Given the description of an element on the screen output the (x, y) to click on. 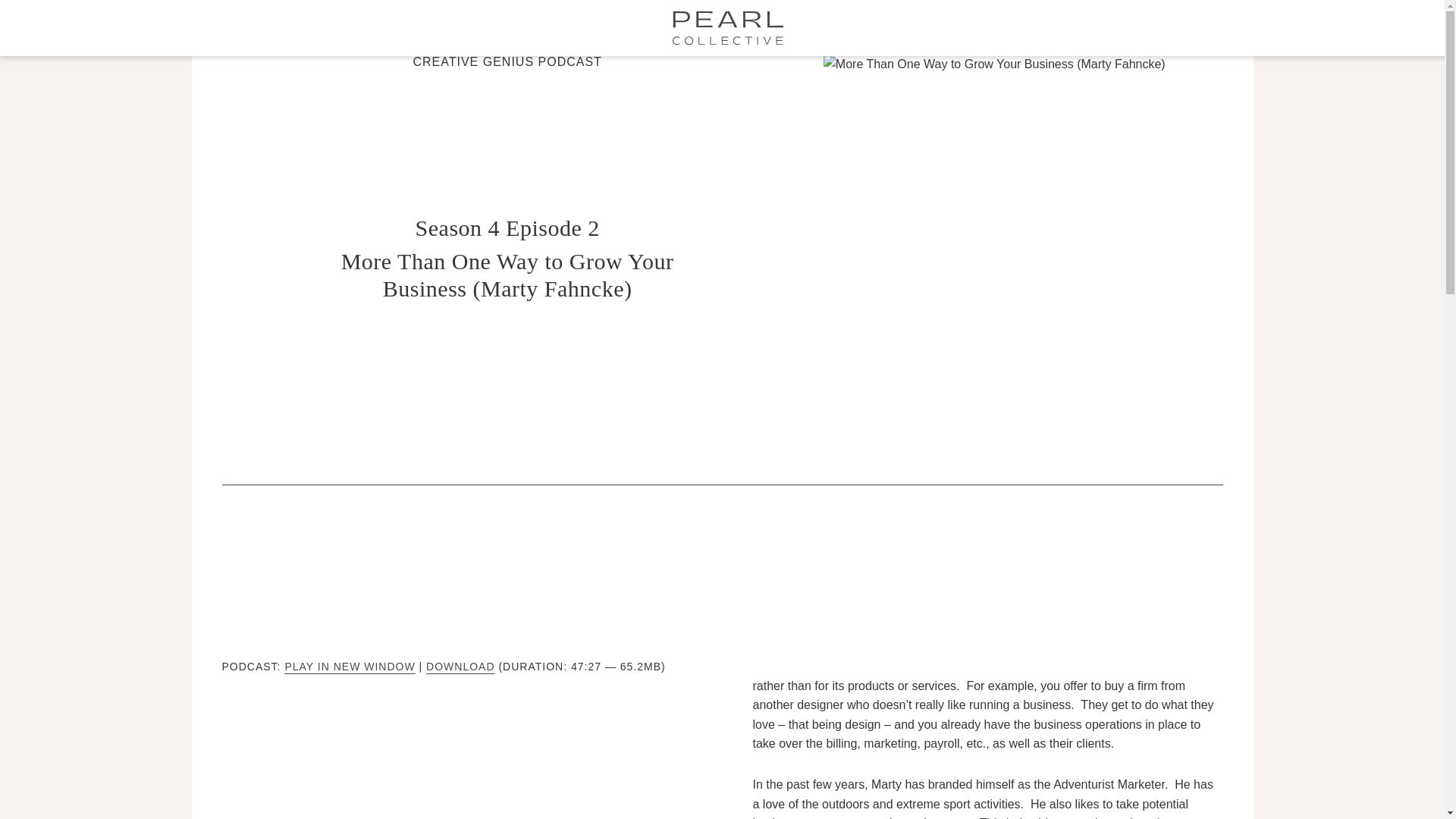
Blubrry Podcast Player (456, 738)
PLAY IN NEW WINDOW (348, 666)
Play in new window (348, 666)
Blubrry Podcast Player (722, 577)
DOWNLOAD (460, 666)
Download (460, 666)
